Given the description of an element on the screen output the (x, y) to click on. 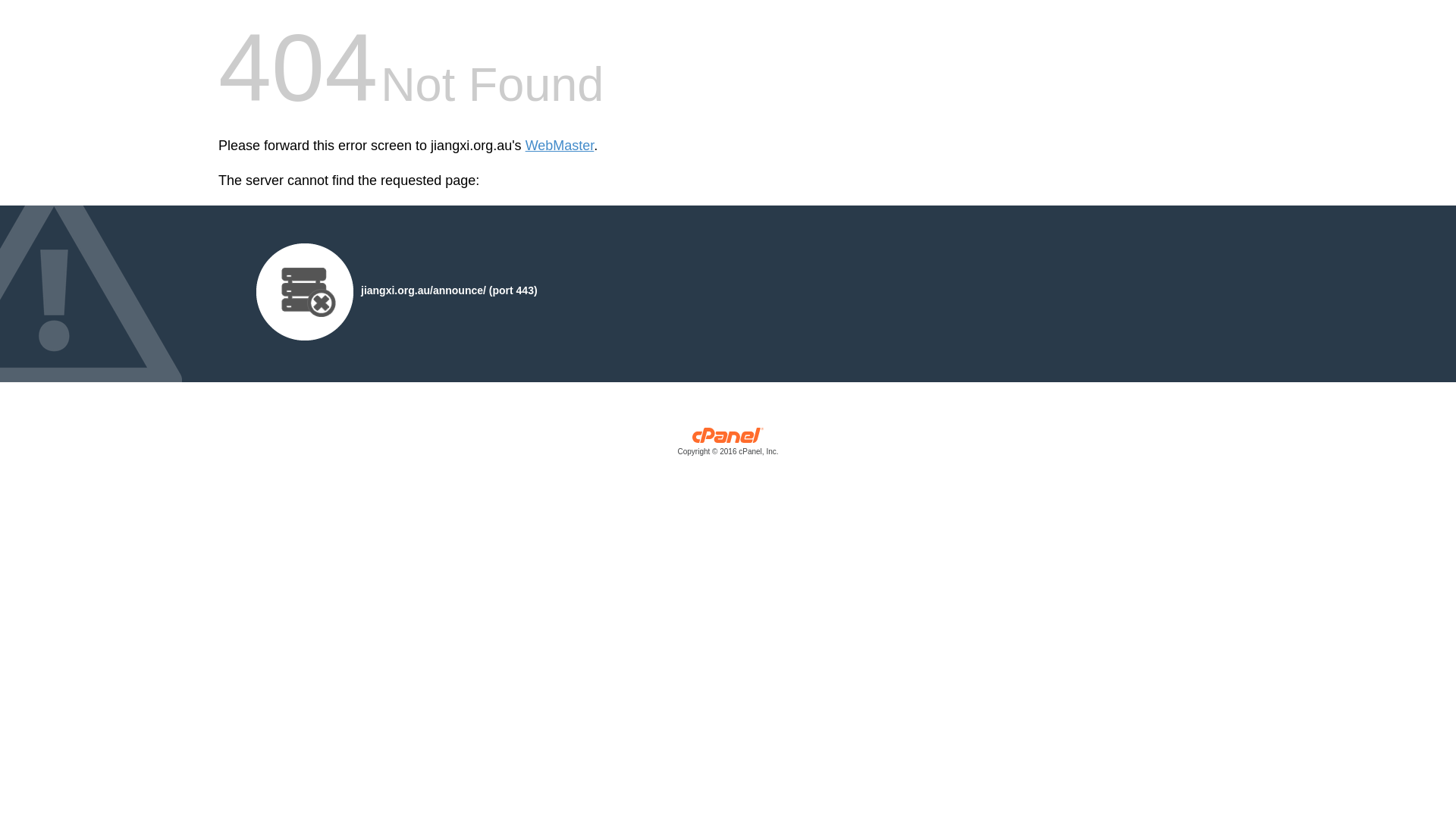
WebMaster Element type: text (559, 145)
